Given the description of an element on the screen output the (x, y) to click on. 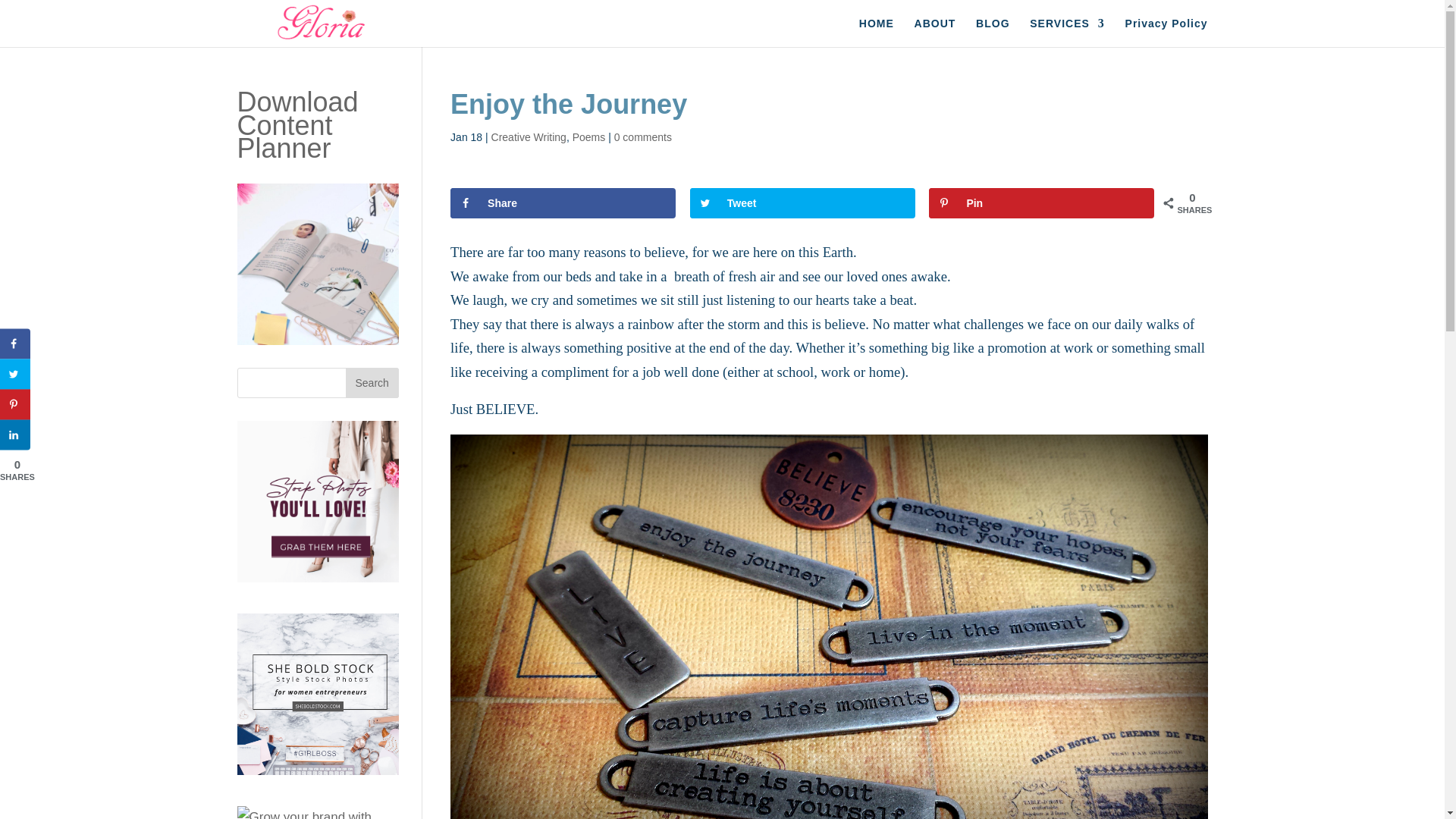
Share (562, 203)
Share on Twitter (802, 203)
Tweet (802, 203)
Share on Facebook (562, 203)
Creative Writing (529, 137)
0 comments (642, 137)
Share on Facebook (15, 344)
Privacy Policy (1166, 32)
Poems (588, 137)
Save to Pinterest (1041, 203)
Pin (1041, 203)
BLOG (992, 32)
Search (372, 382)
Save to Pinterest (15, 404)
